Given the description of an element on the screen output the (x, y) to click on. 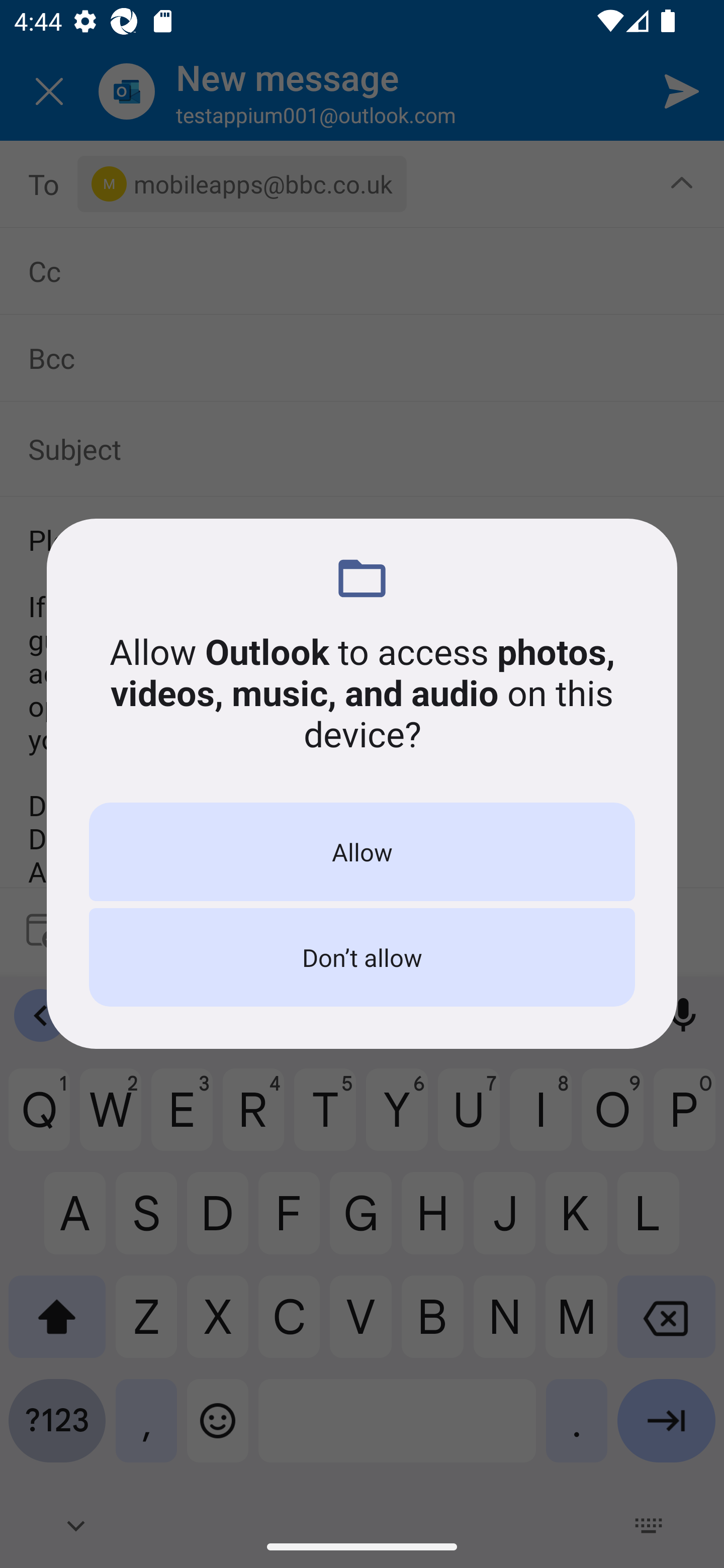
Allow (361, 851)
Don’t allow (361, 956)
